Given the description of an element on the screen output the (x, y) to click on. 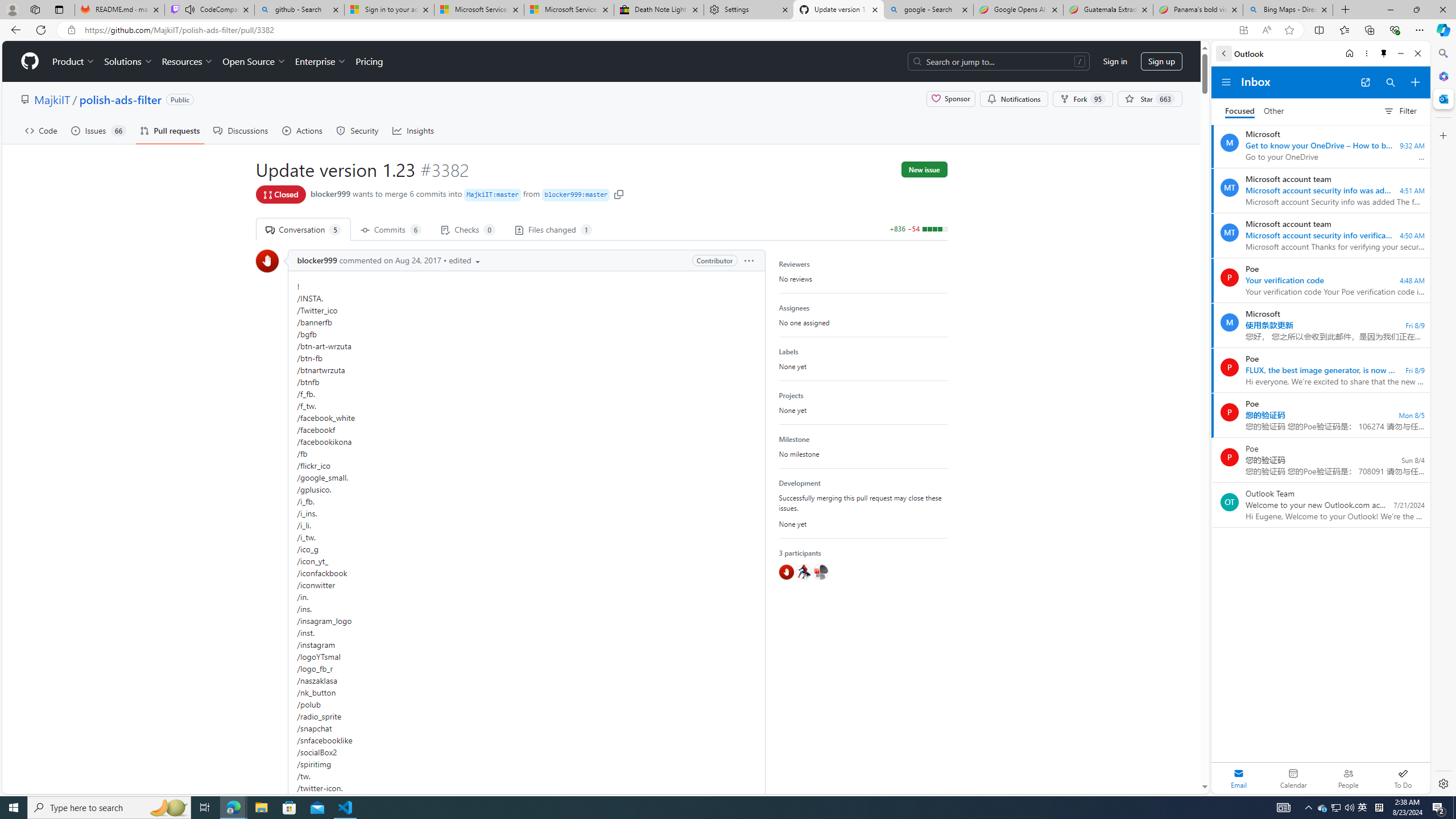
edited  (465, 259)
MajkiIT : master (491, 195)
Open in new tab (1365, 82)
github - Search (298, 9)
@hawkeye116477 (802, 572)
Open Source (254, 60)
